Given the description of an element on the screen output the (x, y) to click on. 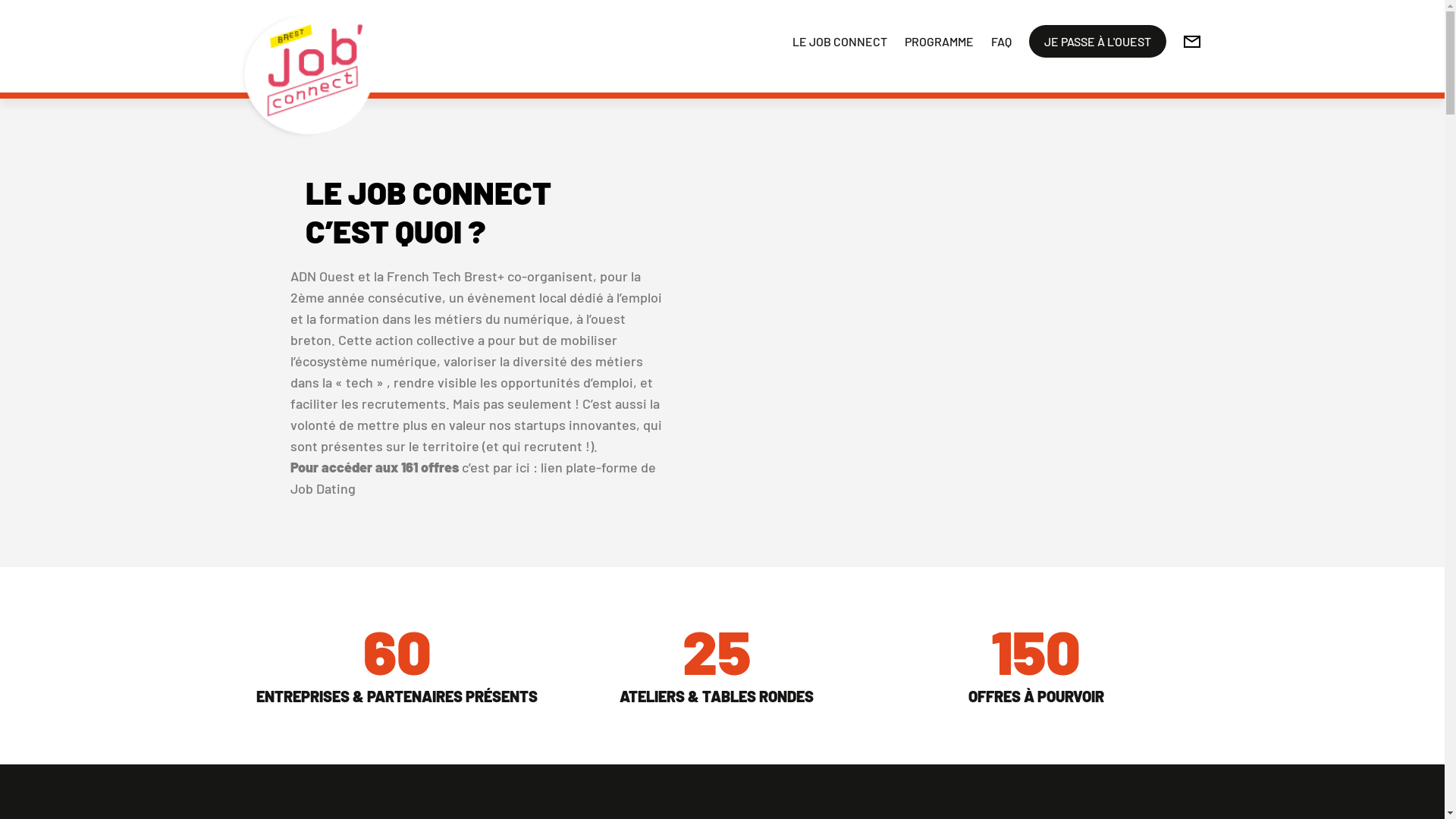
Job Connect 2023 Element type: hover (895, 295)
FAQ Element type: text (1000, 41)
PROGRAMME Element type: text (937, 41)
lien plate-forme de Job Dating Element type: text (472, 477)
LE JOB CONNECT Element type: text (838, 41)
